Given the description of an element on the screen output the (x, y) to click on. 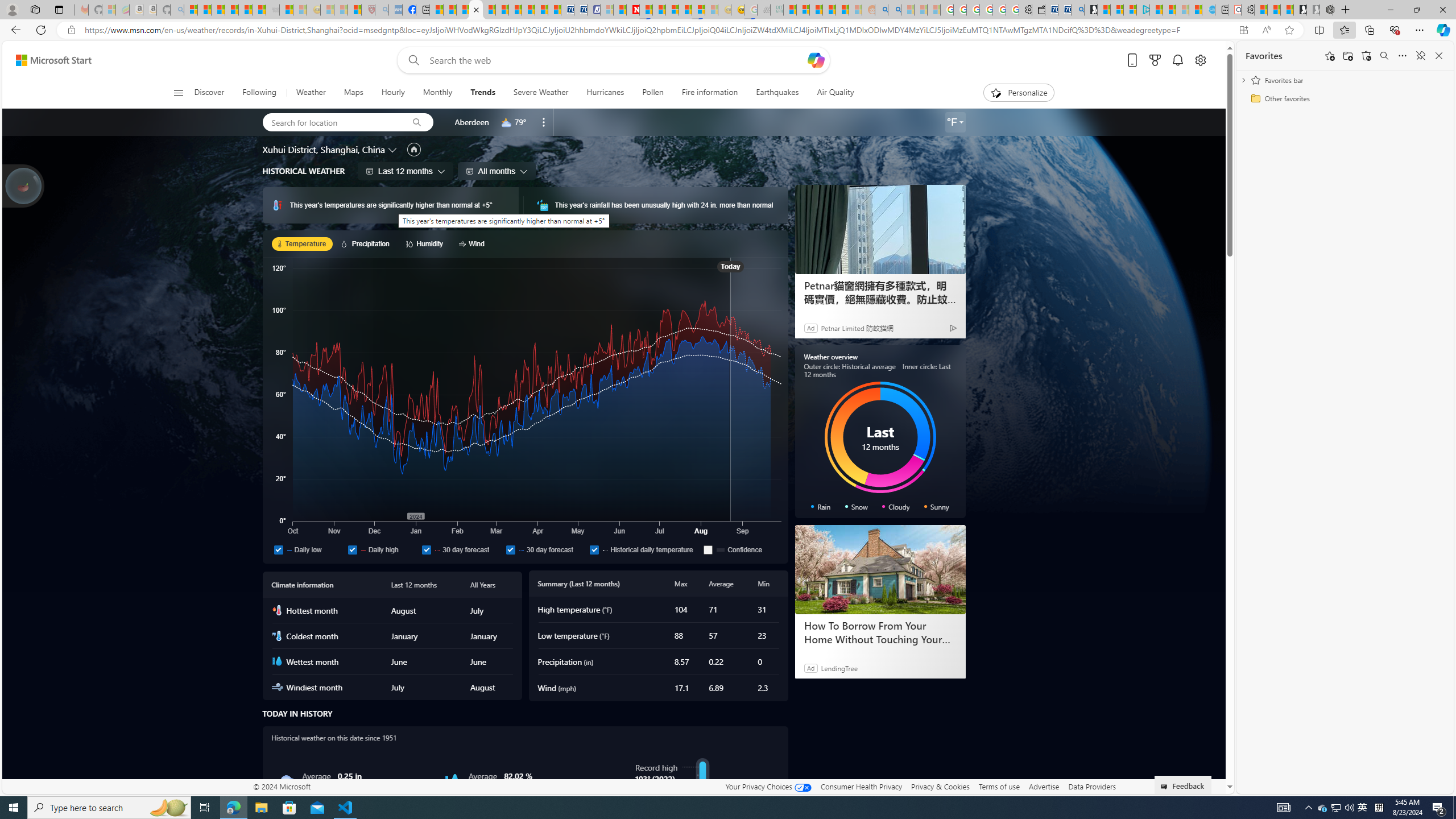
Air Quality (835, 92)
Weather settings (954, 122)
Daily low (278, 549)
Remove location (544, 122)
Precipitation (366, 243)
Student Loan Update: Forgiveness Program Ends This Month (842, 9)
Fire information (709, 92)
